Given the description of an element on the screen output the (x, y) to click on. 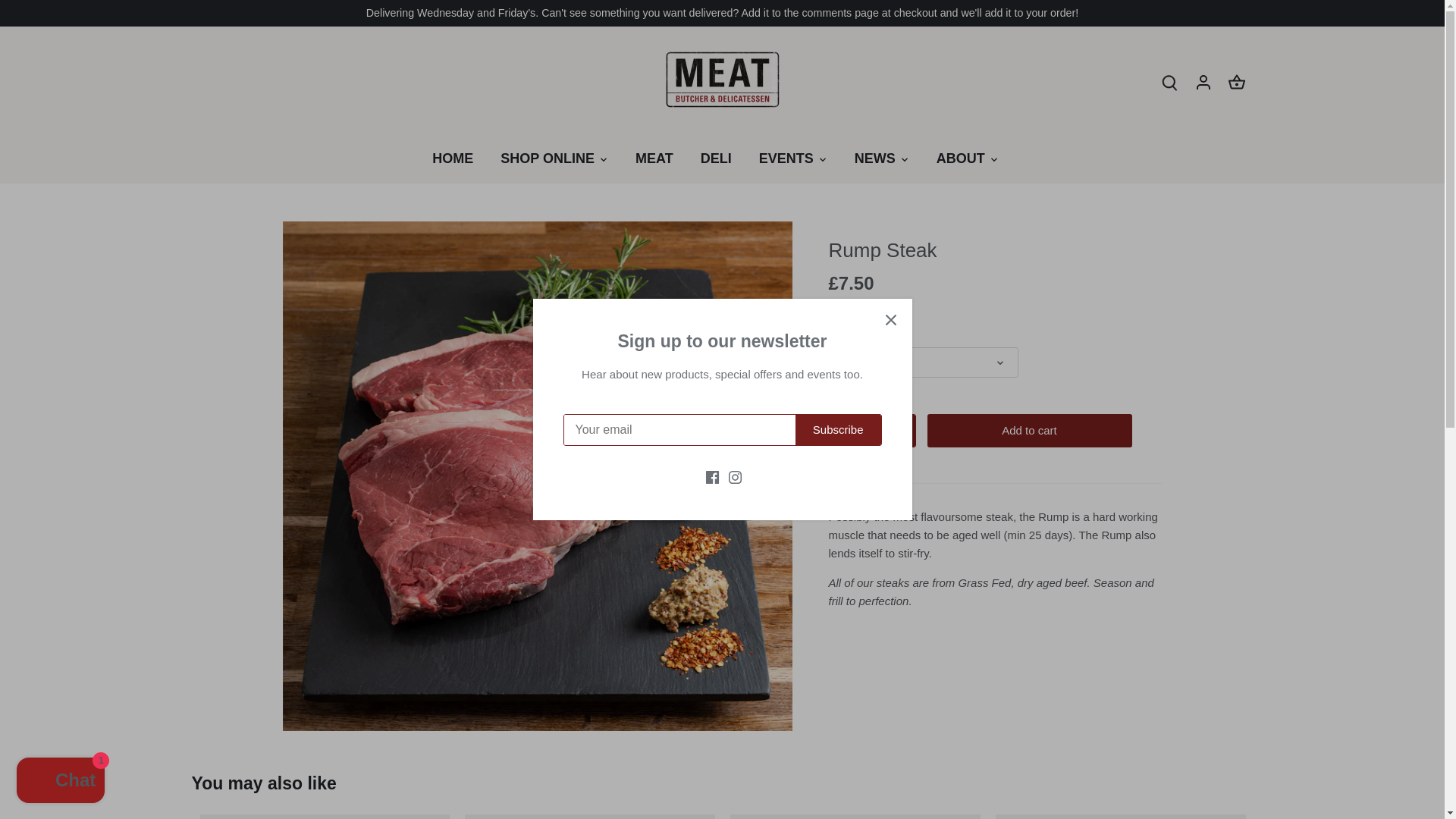
1 (872, 430)
Shopify online store chat (60, 781)
HOME (459, 158)
Go to cart (1235, 81)
SHOP ONLINE (547, 158)
